Given the description of an element on the screen output the (x, y) to click on. 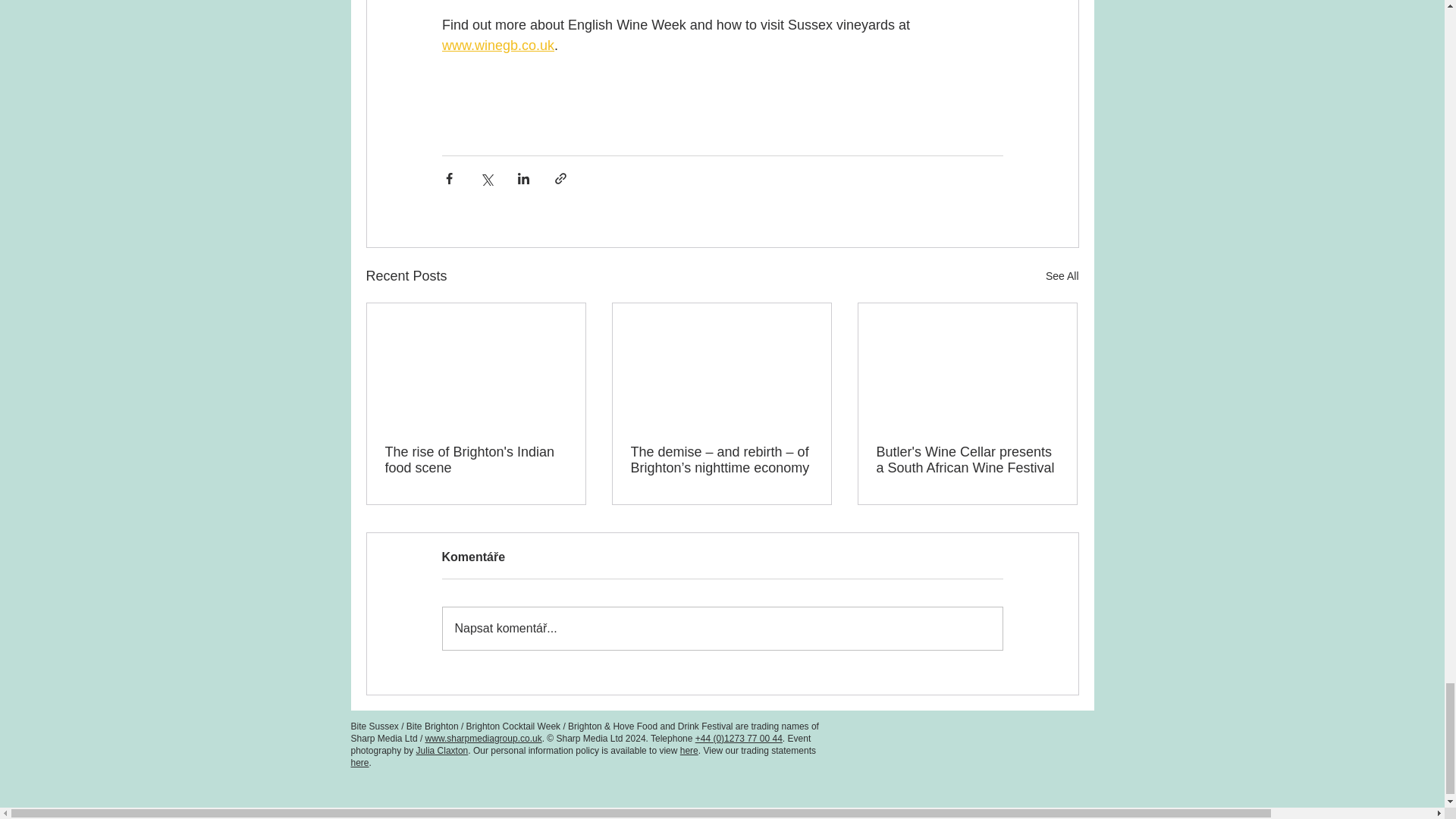
See All (1061, 276)
The rise of Brighton's Indian food scene (476, 459)
Butler's Wine Cellar presents a South African Wine Festival (967, 459)
here (688, 750)
www.winegb.co.uk (497, 45)
www.sharpmediagroup.co.uk (483, 738)
Julia Claxton (442, 750)
here (359, 762)
